Given the description of an element on the screen output the (x, y) to click on. 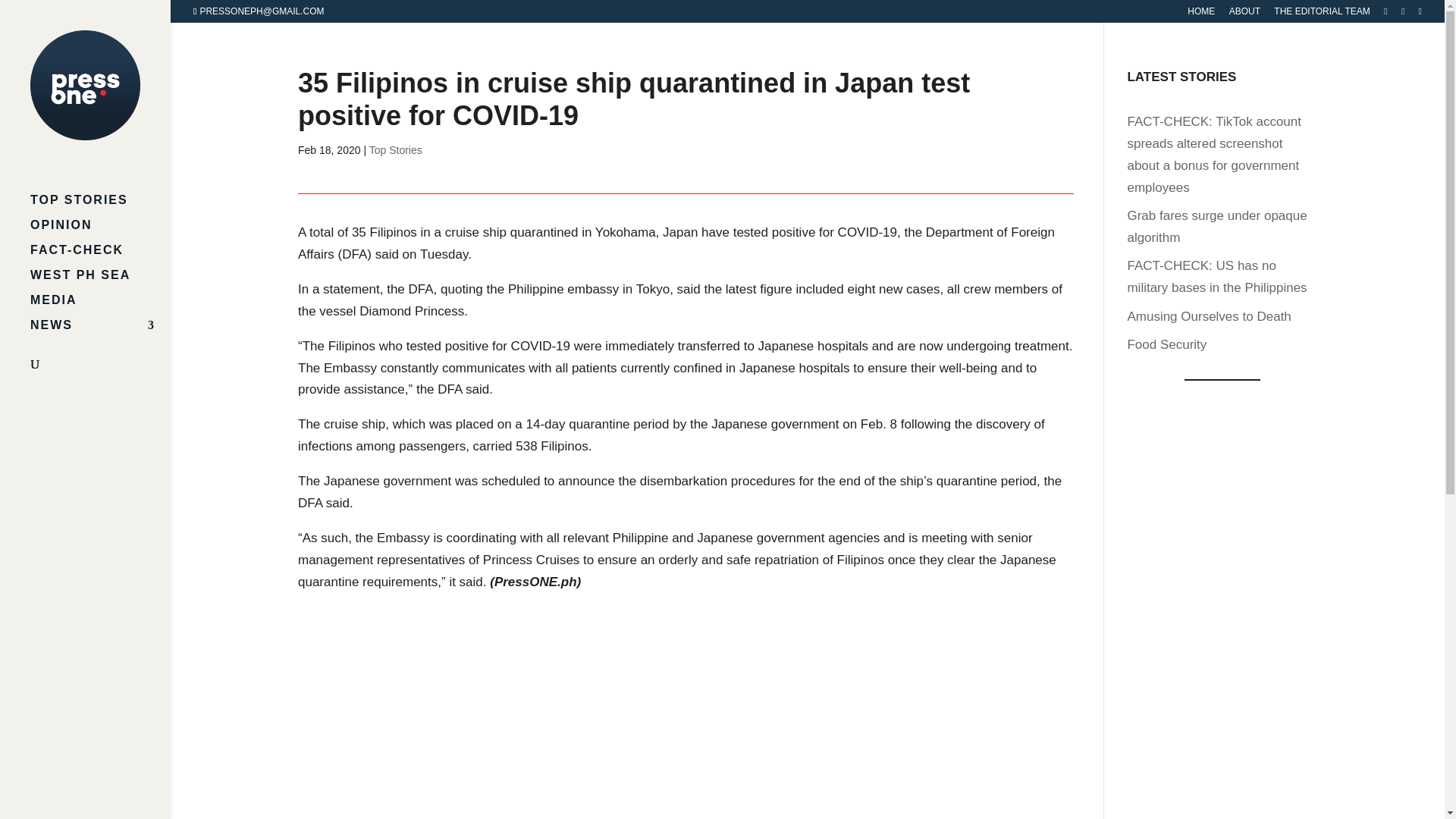
MEDIA (100, 307)
WEST PH SEA (100, 282)
OPINION (100, 232)
ABOUT (1244, 14)
TOP STORIES (100, 207)
NEWS (100, 332)
HOME (1201, 14)
THE EDITORIAL TEAM (1322, 14)
FACT-CHECK (100, 257)
